Given the description of an element on the screen output the (x, y) to click on. 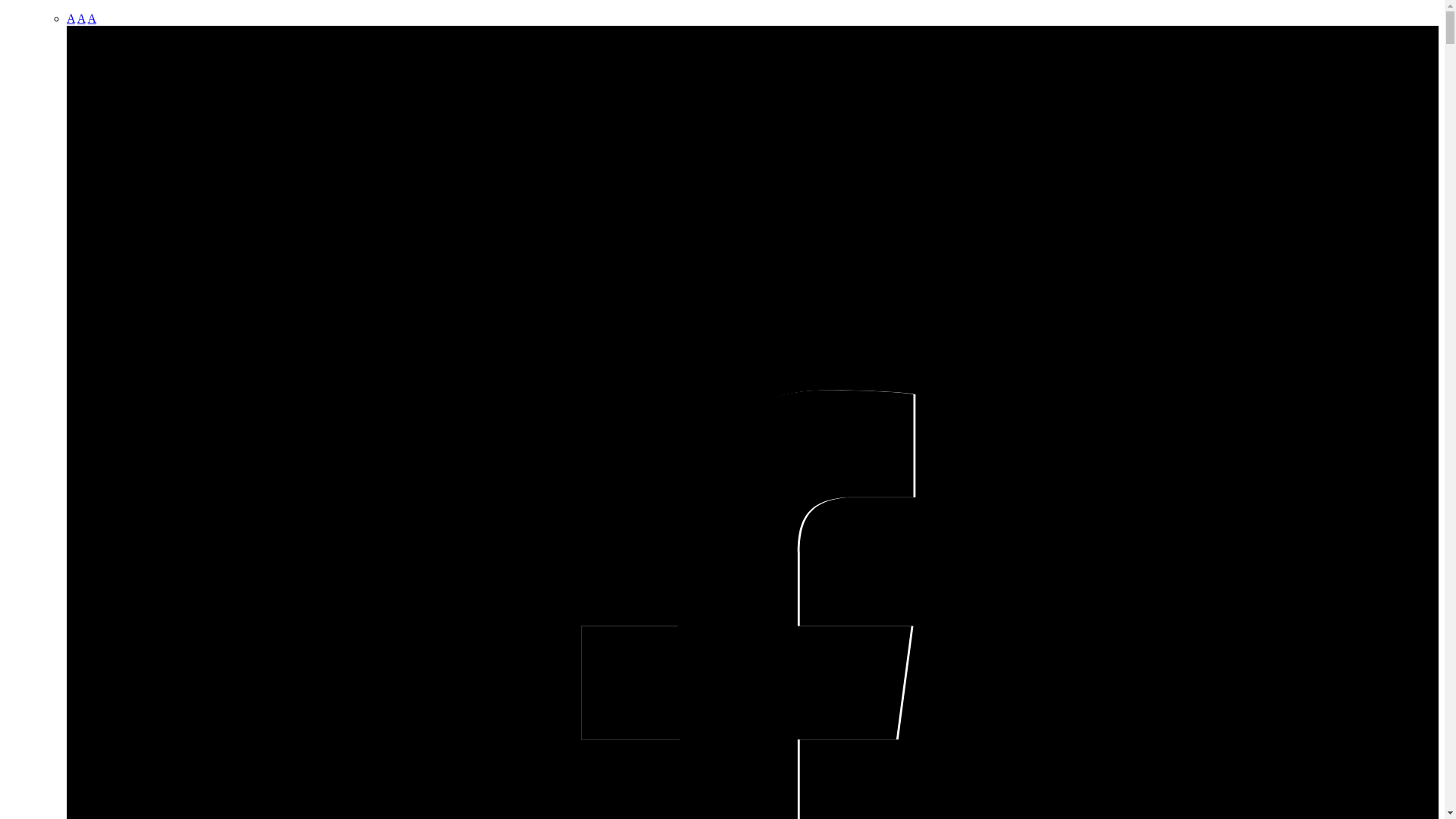
A Element type: text (81, 18)
A Element type: text (92, 18)
A Element type: text (70, 18)
